Given the description of an element on the screen output the (x, y) to click on. 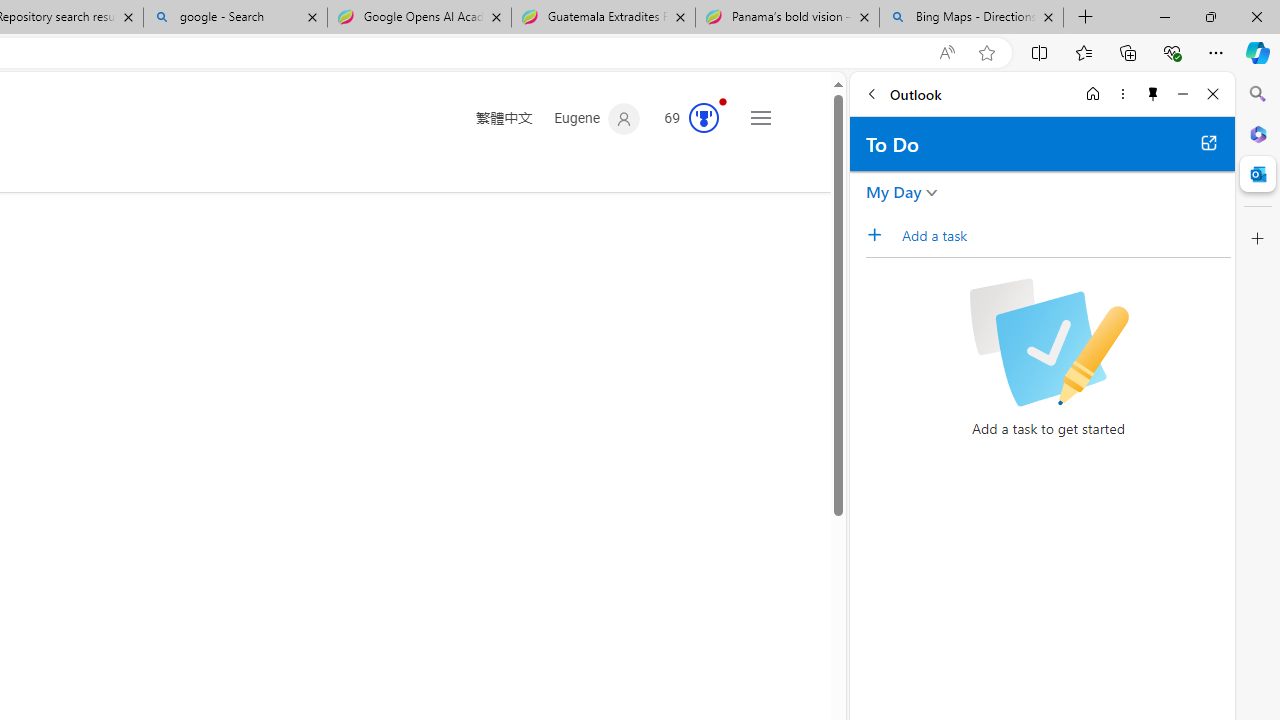
Open in new tab (1208, 142)
Checkbox with a pencil (1047, 342)
My Day (893, 191)
Add a task (1065, 235)
Animation (723, 101)
Microsoft Rewards 66 (685, 119)
Settings and quick links (760, 117)
AutomationID: rh_meter (703, 117)
